Given the description of an element on the screen output the (x, y) to click on. 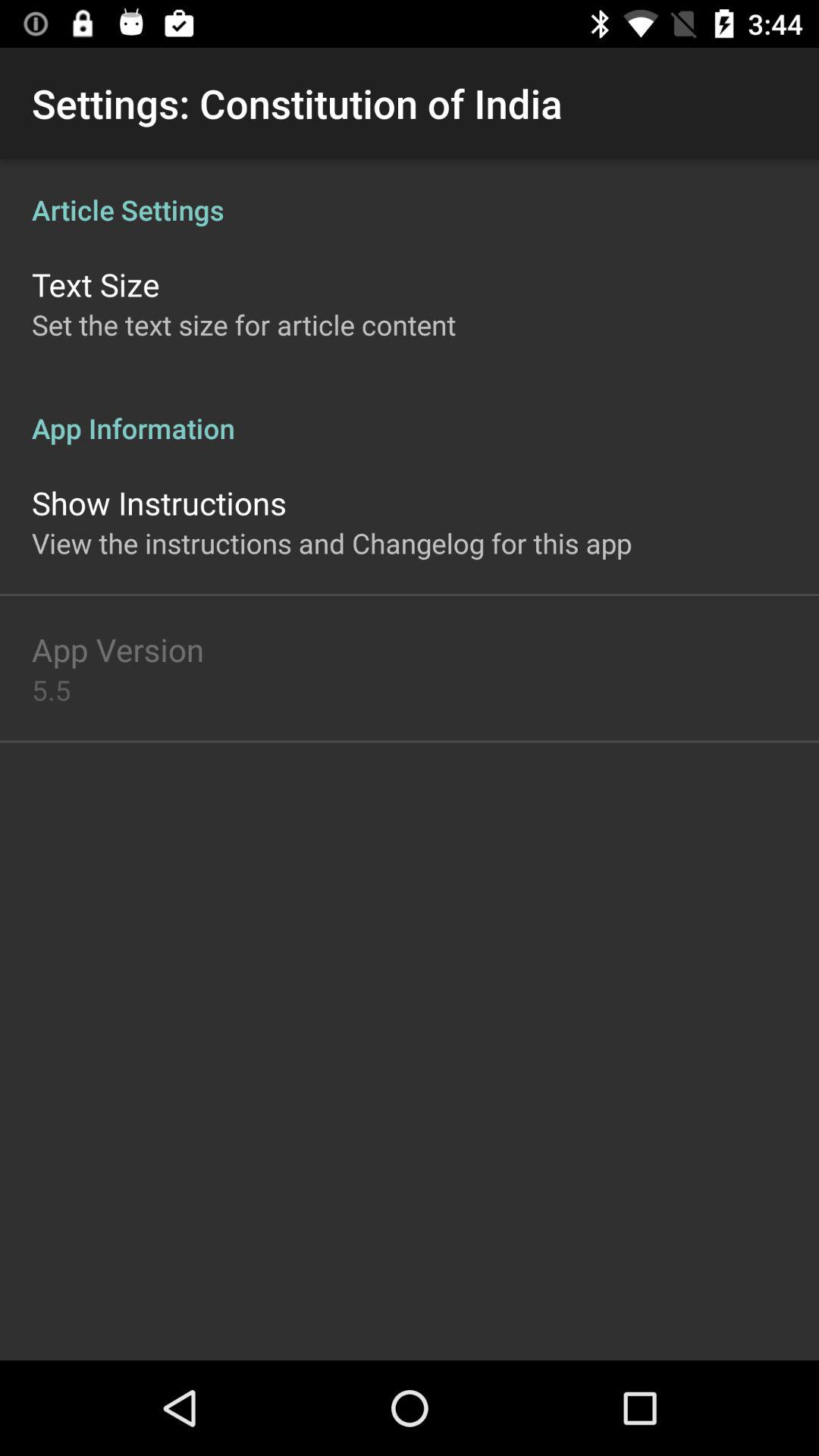
flip until the set the text (243, 324)
